Given the description of an element on the screen output the (x, y) to click on. 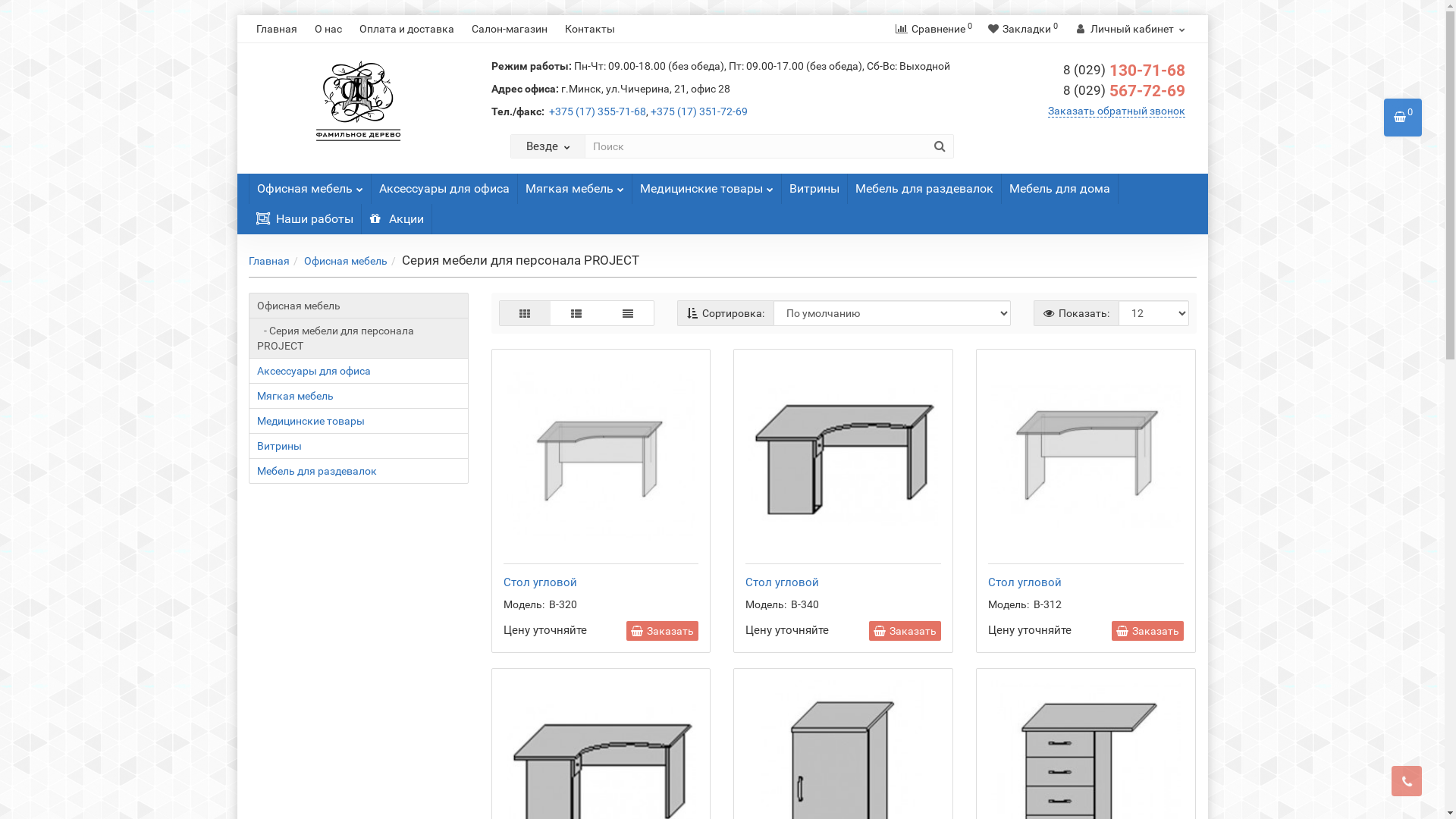
+375 (17) 355-71-68 Element type: text (597, 111)
8 (029) 567-72-69 Element type: text (1124, 90)
0 Element type: text (1402, 117)
8 (029) 130-71-68 Element type: text (1124, 70)
+375 (17) 351-72-69 Element type: text (698, 111)
